Given the description of an element on the screen output the (x, y) to click on. 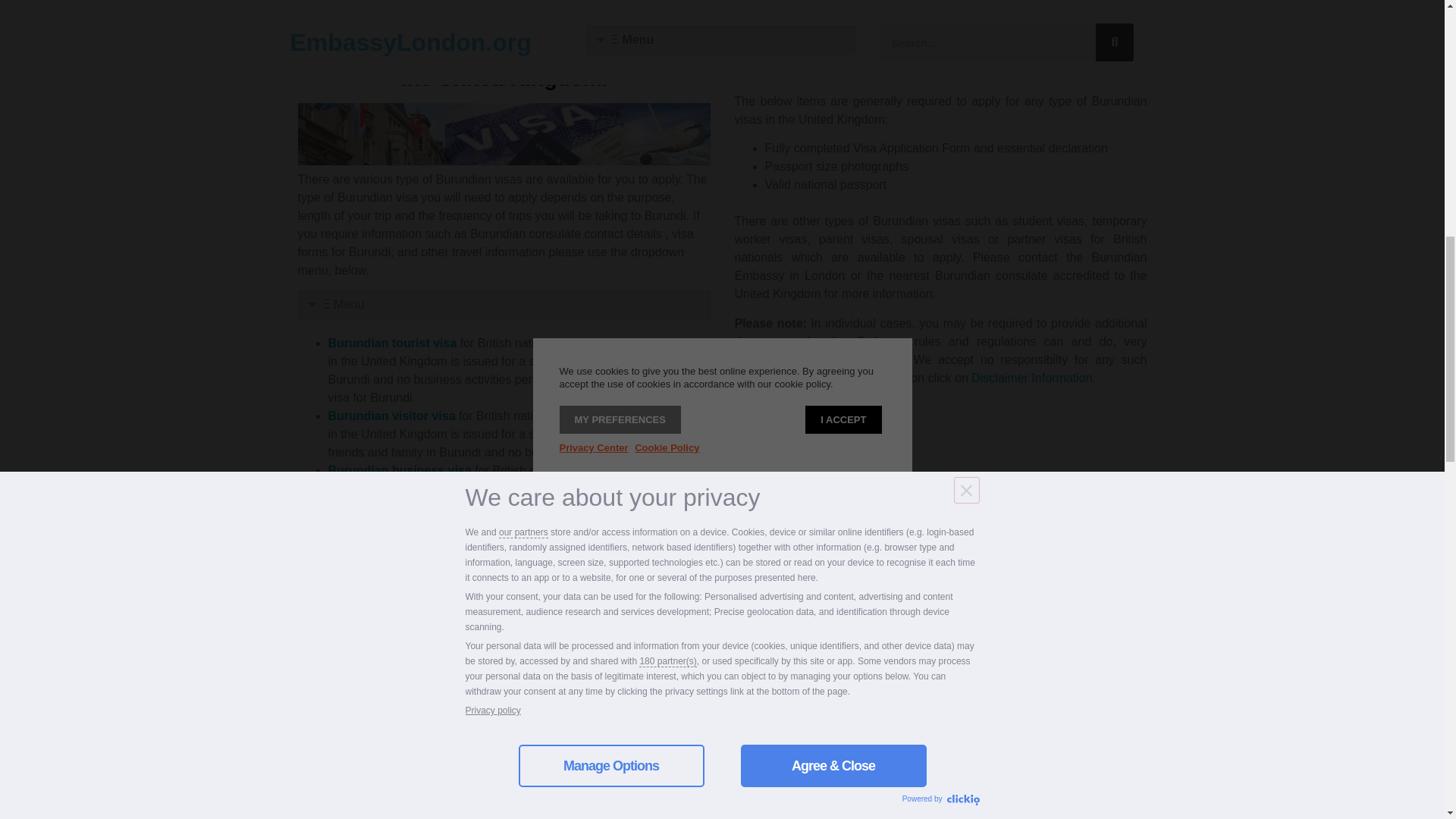
Disclaimer Information (1031, 377)
Burundian visitor visa (390, 415)
Burundian tourist visa (392, 342)
Burundian business visa (398, 470)
Burundian transit visa (391, 524)
